Given the description of an element on the screen output the (x, y) to click on. 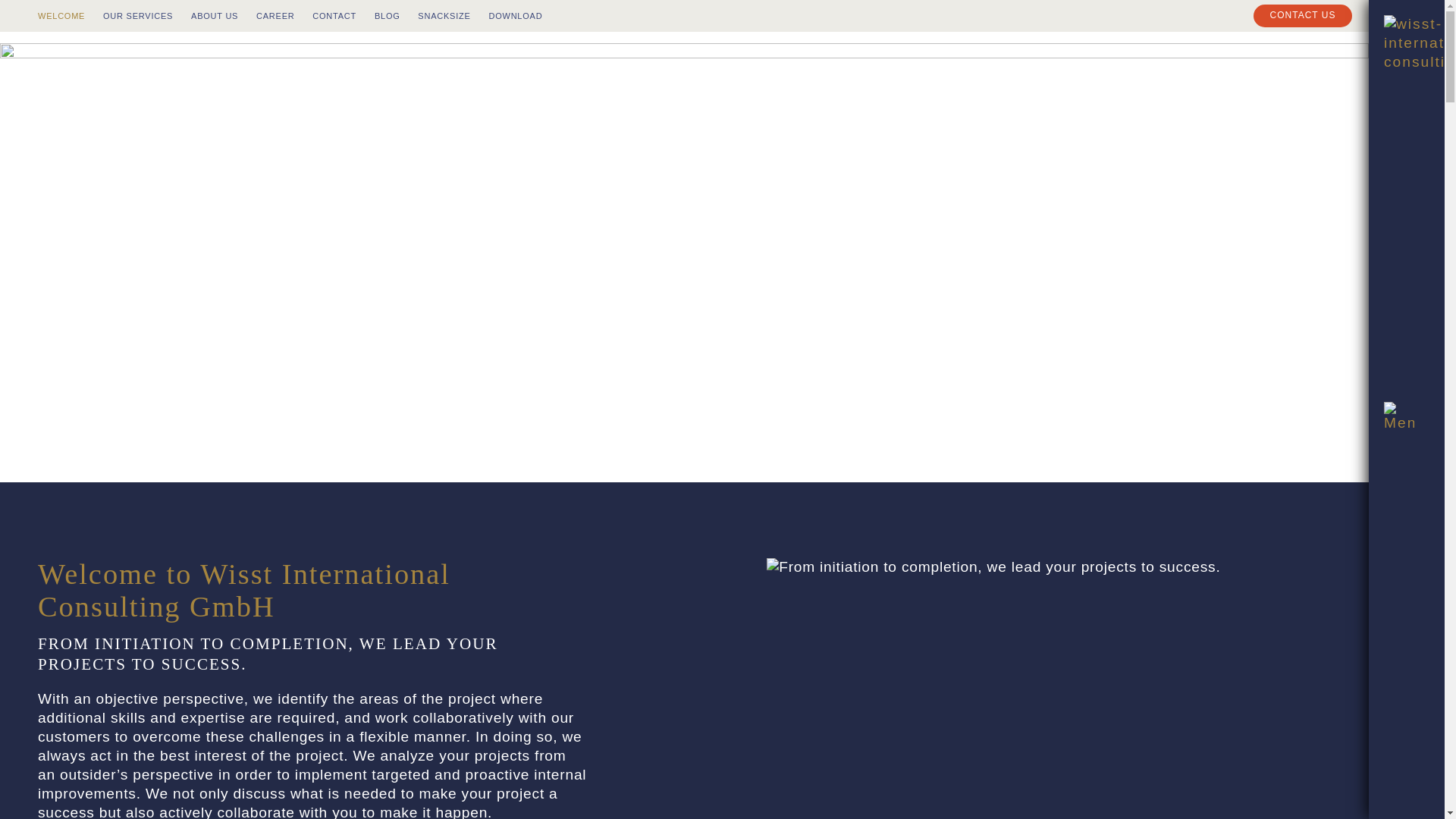
OUR SERVICES (138, 15)
CONTACT (334, 15)
ABOUT US (214, 15)
BLOG (387, 15)
CAREER (275, 15)
